Given the description of an element on the screen output the (x, y) to click on. 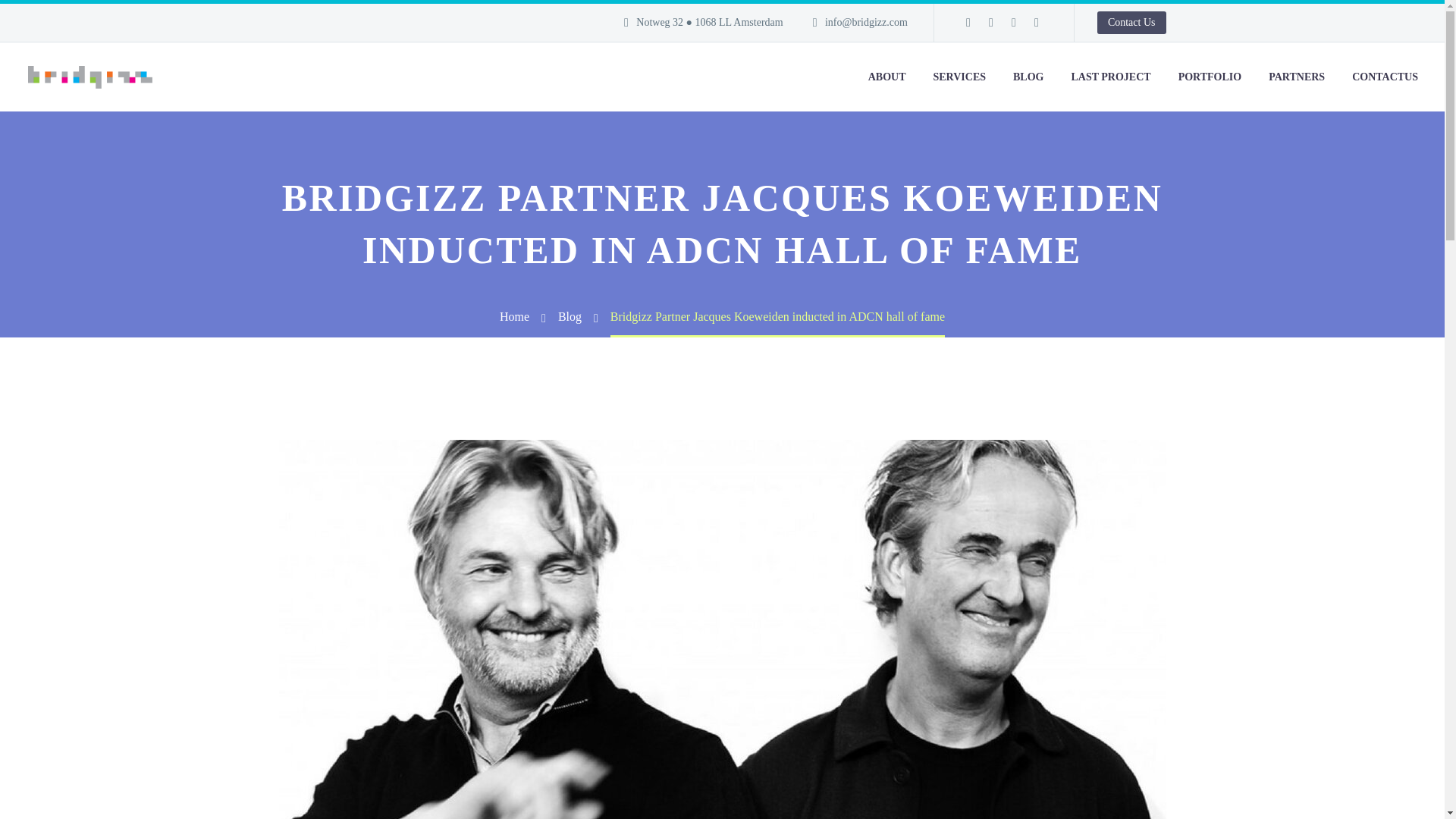
Partners (1296, 76)
Instagram (1036, 22)
BLOG (1027, 76)
CONTACTUS (1384, 76)
Blog (568, 316)
LAST PROJECT (1110, 76)
PARTNERS (1296, 76)
Contact Us (1131, 22)
Twitter (1014, 22)
Services (959, 76)
